Given the description of an element on the screen output the (x, y) to click on. 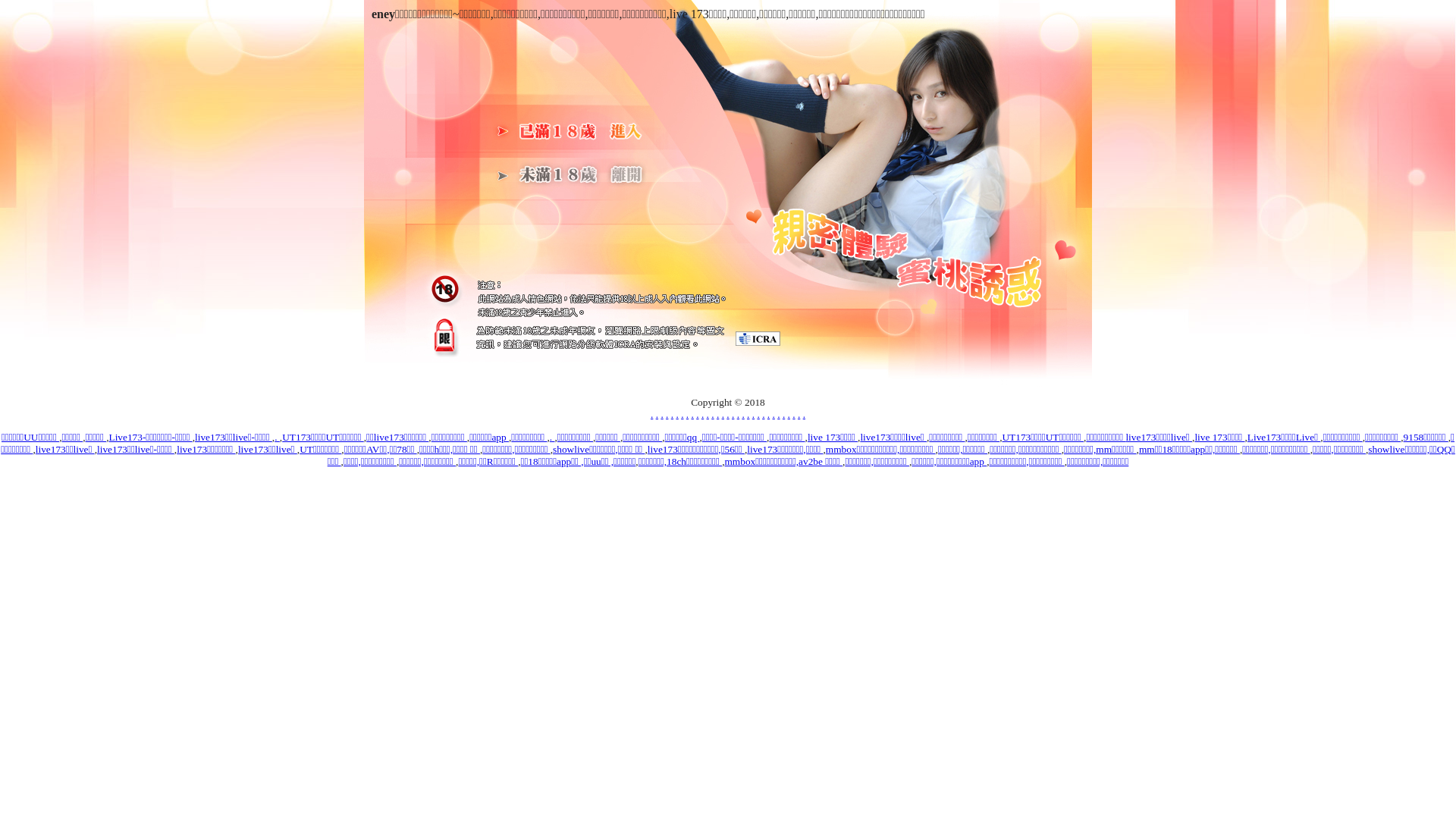
. Element type: text (681, 414)
. Element type: text (783, 414)
. Element type: text (768, 414)
. Element type: text (651, 414)
. Element type: text (656, 414)
. Element type: text (672, 414)
. Element type: text (712, 414)
. Element type: text (773, 414)
. Element type: text (793, 414)
. Element type: text (692, 414)
. Element type: text (763, 414)
. Element type: text (722, 414)
. Element type: text (697, 414)
. Element type: text (798, 414)
. Element type: text (804, 414)
. Element type: text (276, 436)
. Element type: text (742, 414)
. Element type: text (702, 414)
. Element type: text (747, 414)
. Element type: text (707, 414)
. Element type: text (738, 414)
. Element type: text (717, 414)
. Element type: text (687, 414)
. Element type: text (753, 414)
. Element type: text (661, 414)
. Element type: text (732, 414)
. Element type: text (788, 414)
. Element type: text (778, 414)
. Element type: text (666, 414)
. Element type: text (676, 414)
. Element type: text (727, 414)
. Element type: text (757, 414)
. Element type: text (552, 436)
